Given the description of an element on the screen output the (x, y) to click on. 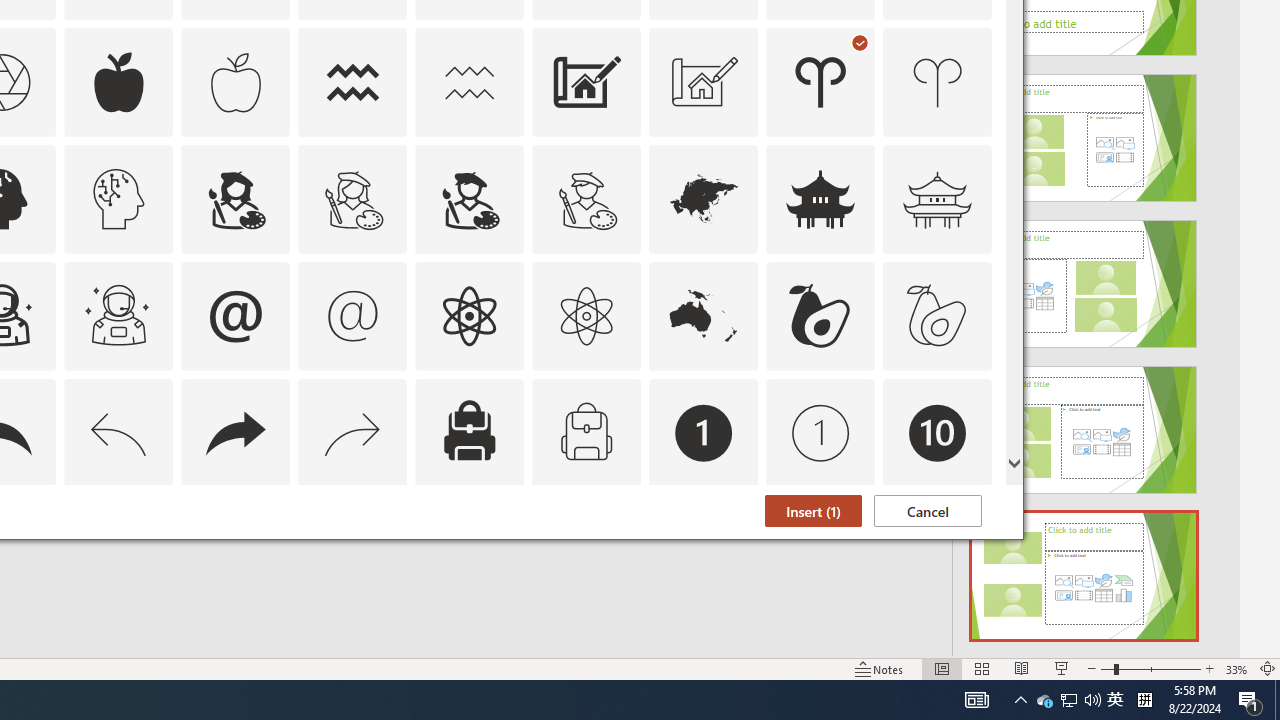
AutomationID: Icons_At (235, 316)
AutomationID: Icons_Badge1 (703, 432)
AutomationID: Icons_Atom_M (586, 316)
AutomationID: Icons_Avocado (820, 316)
AutomationID: Icons_AsianTemple_M (938, 198)
